Given the description of an element on the screen output the (x, y) to click on. 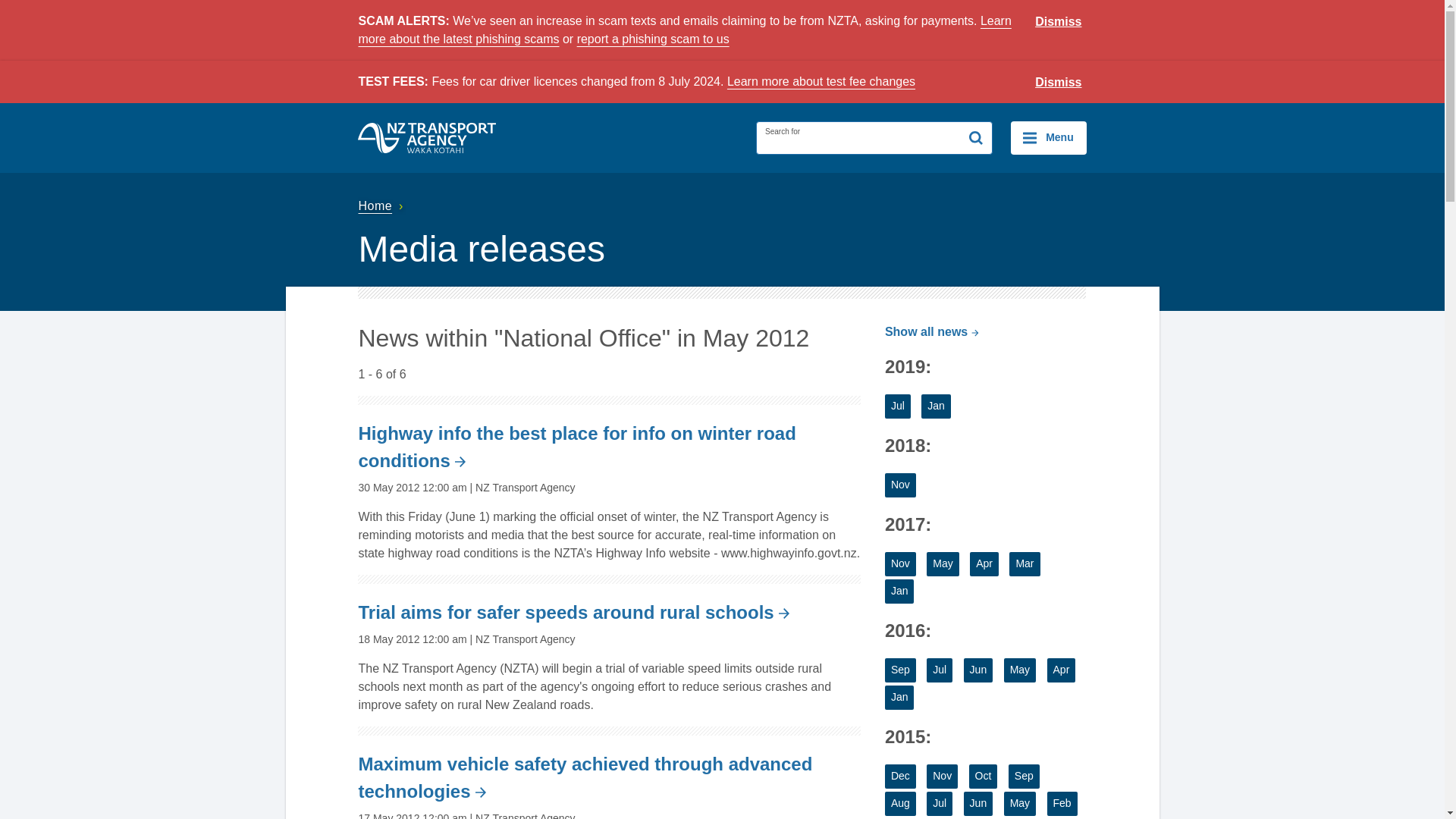
Dismiss (1058, 82)
Learn more about the latest phishing scams (684, 29)
Dismiss (1058, 21)
Home (382, 205)
Menu (1048, 137)
Learn more about test fee changes (820, 81)
report a phishing scam to us (652, 38)
NZ Transport Agency Waka Kotahi (427, 137)
